Given the description of an element on the screen output the (x, y) to click on. 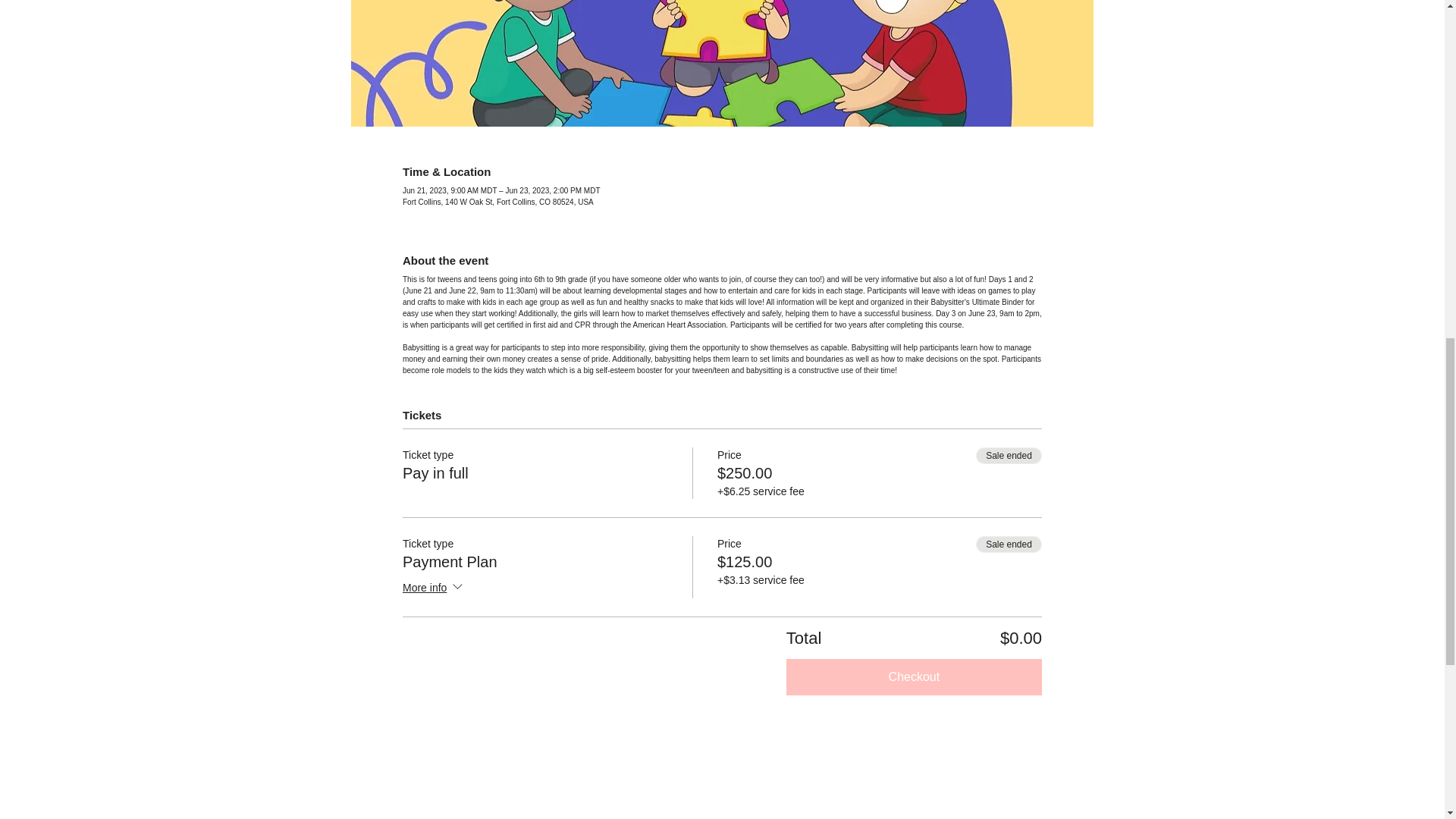
More info (434, 588)
Checkout (914, 677)
